Given the description of an element on the screen output the (x, y) to click on. 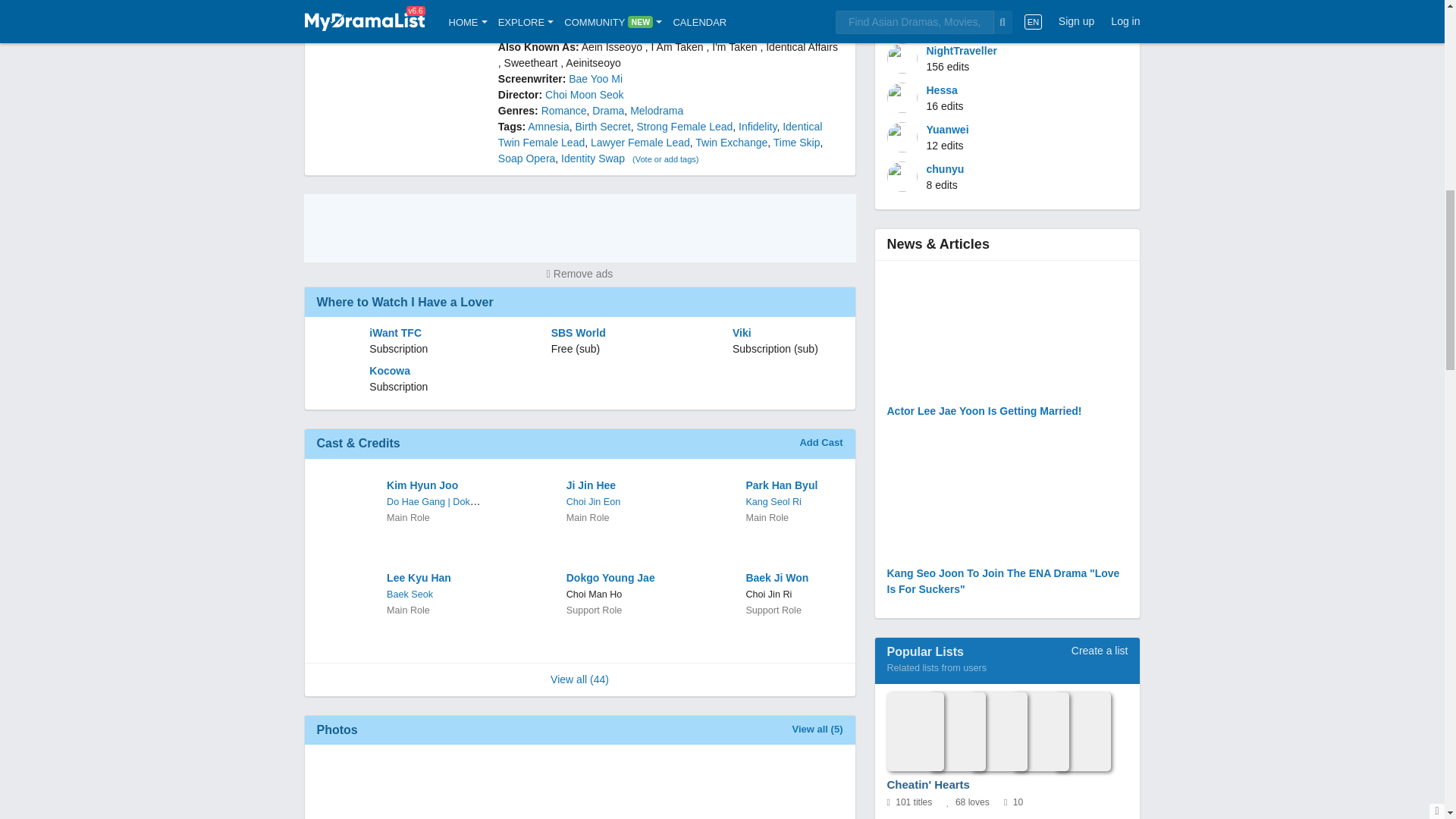
Identical Affairs (801, 46)
Aein Isseoyo (611, 46)
I'm Taken (734, 46)
Aeinitseoyo (593, 62)
Choi Jin Eon - I Have a Lover (593, 501)
Kim Hyun Joo (433, 485)
Lee Kyu Han (433, 578)
Kang Seol Ri - I Have a Lover (773, 501)
Sweetheart (530, 62)
Ji Jin Hee (613, 485)
